Given the description of an element on the screen output the (x, y) to click on. 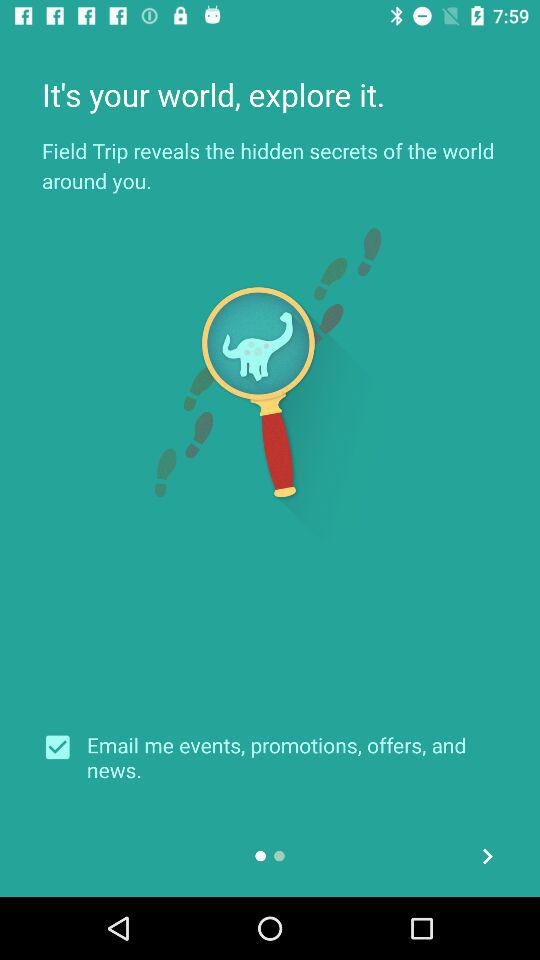
sign up for email alerts (64, 747)
